Given the description of an element on the screen output the (x, y) to click on. 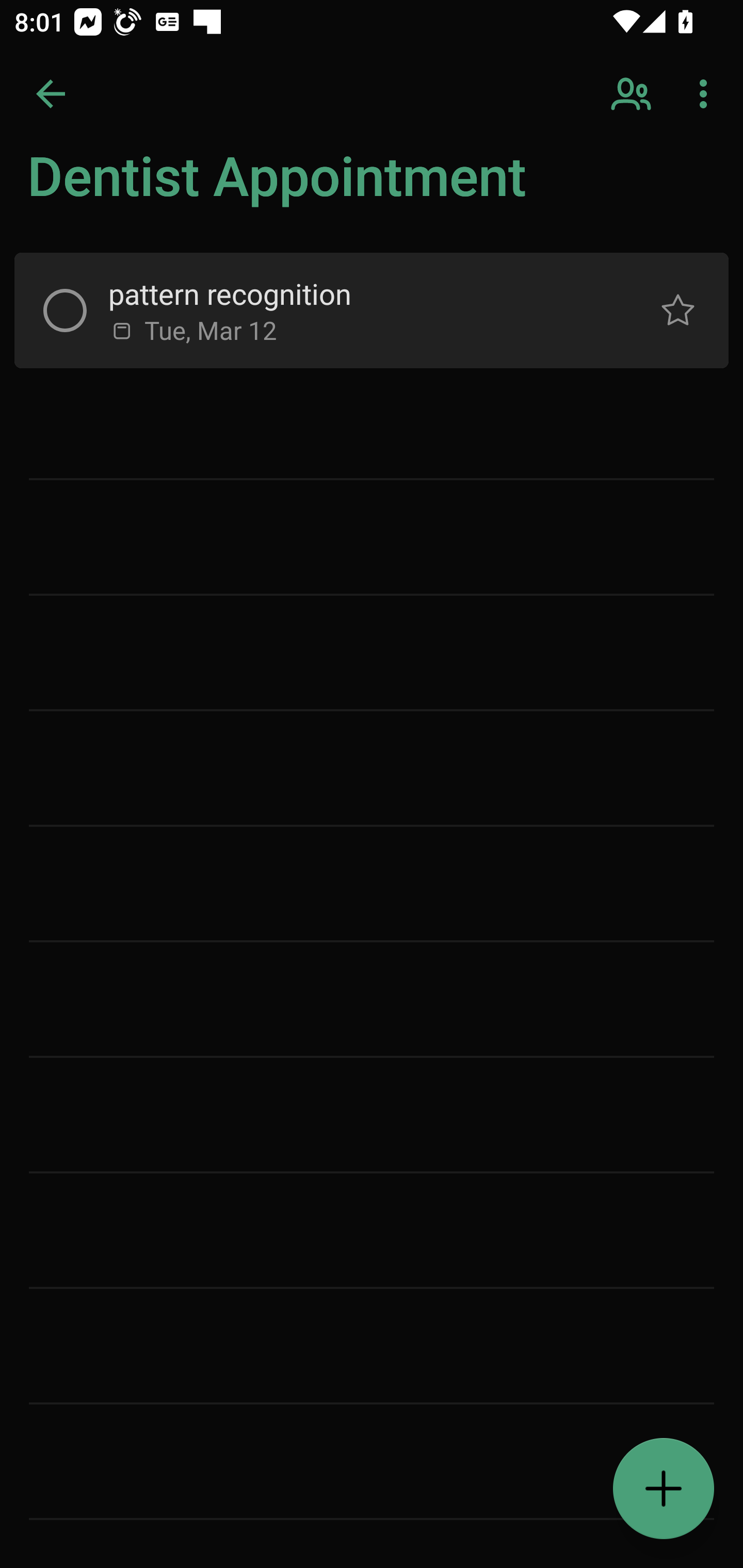
Back (50, 93)
Sharing options (632, 93)
More options (706, 93)
Incomplete task pattern recognition, Button (64, 310)
Normal task pattern recognition, Button (677, 310)
pattern recognition (356, 293)
Add a task (663, 1488)
